Given the description of an element on the screen output the (x, y) to click on. 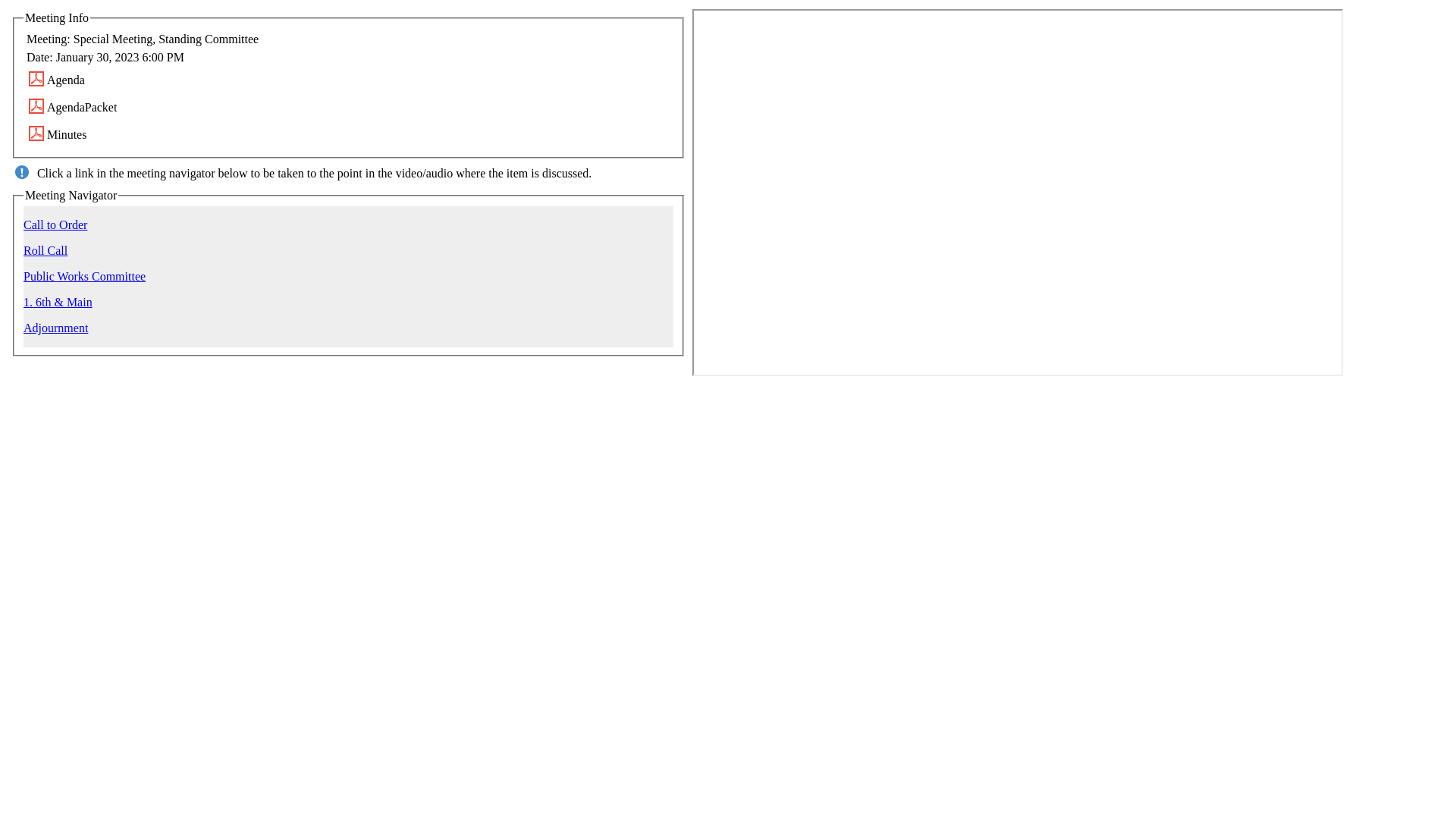
Call to Order (55, 224)
Adjournment (55, 327)
Public Works Committee (84, 276)
Roll Call (44, 250)
